Given the description of an element on the screen output the (x, y) to click on. 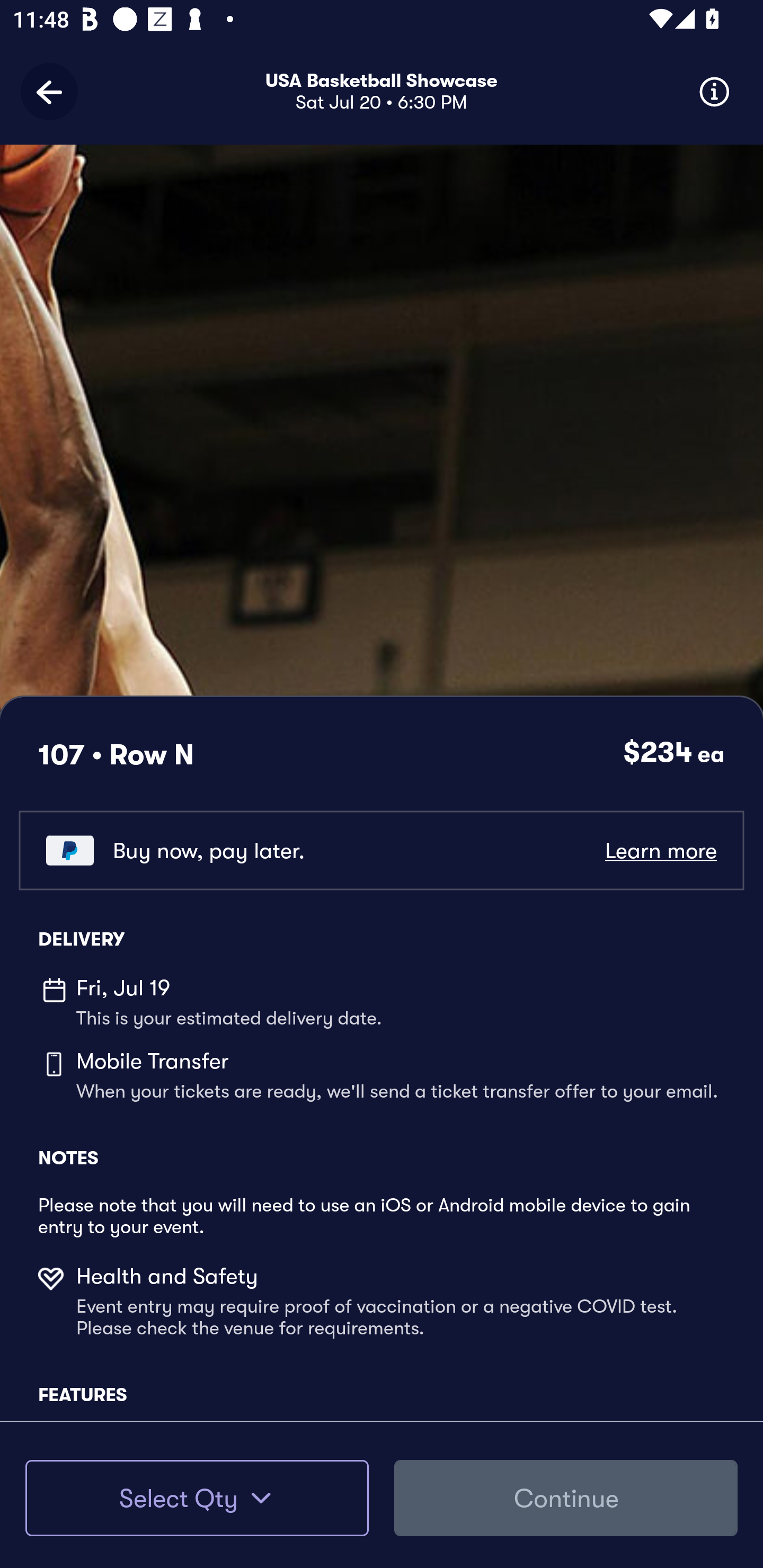
Learn more (660, 850)
Select Qty (196, 1497)
Continue (565, 1497)
